Given the description of an element on the screen output the (x, y) to click on. 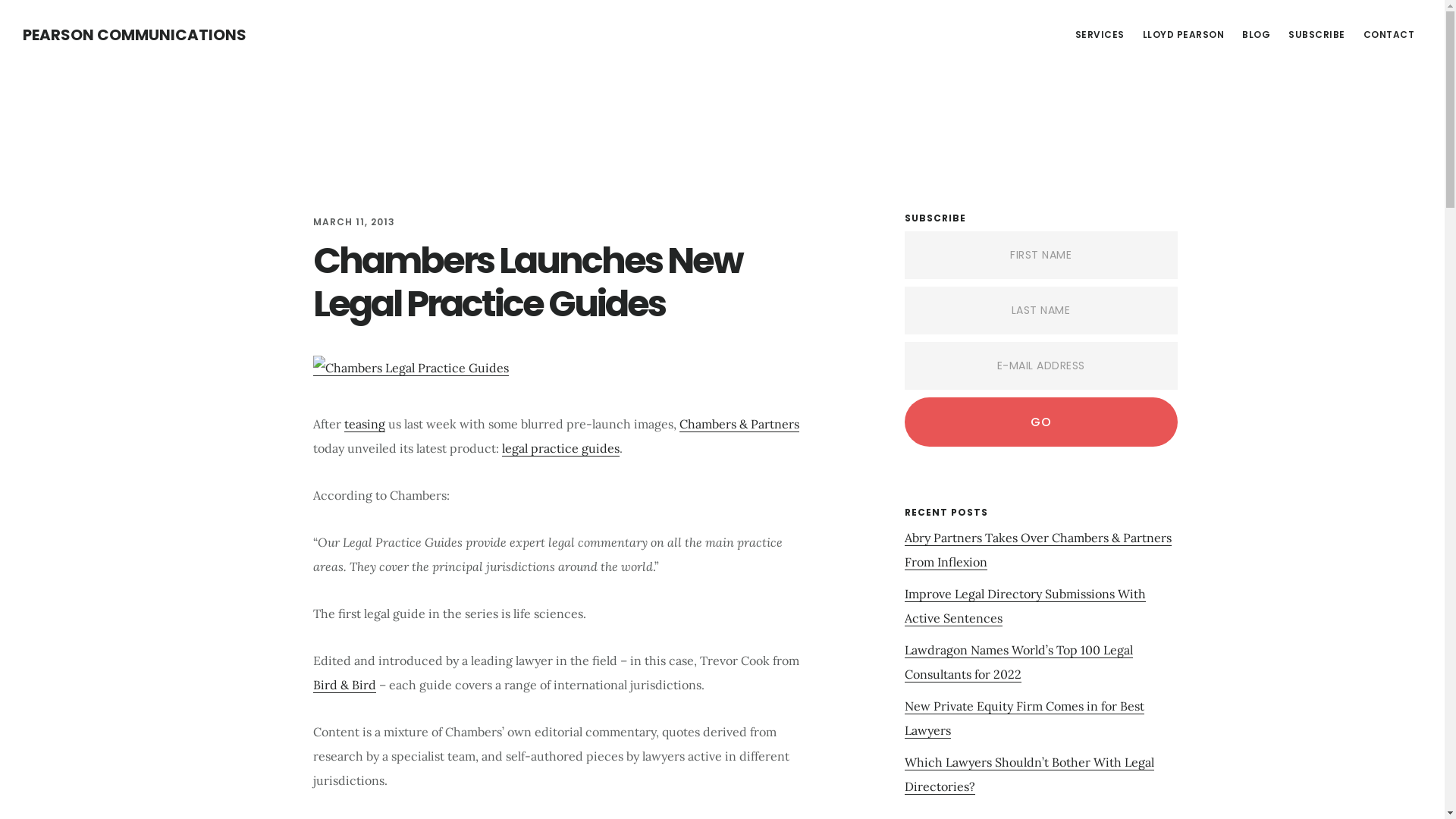
PEARSON COMMUNICATIONS Element type: text (134, 34)
legal practice guides Element type: text (560, 448)
Go Element type: text (1039, 421)
Bird & Bird Element type: text (343, 685)
New Private Equity Firm Comes in for Best Lawyers Element type: text (1023, 718)
Chambers & Partners Element type: text (739, 424)
SUBSCRIBE Element type: text (1316, 34)
Improve Legal Directory Submissions With Active Sentences Element type: text (1024, 606)
CONTACT Element type: text (1388, 34)
BLOG Element type: text (1255, 34)
SERVICES Element type: text (1099, 34)
teasing Element type: text (364, 424)
Abry Partners Takes Over Chambers & Partners From Inflexion Element type: text (1036, 550)
Skip to main content Element type: text (0, 0)
LLOYD PEARSON Element type: text (1182, 34)
